Given the description of an element on the screen output the (x, y) to click on. 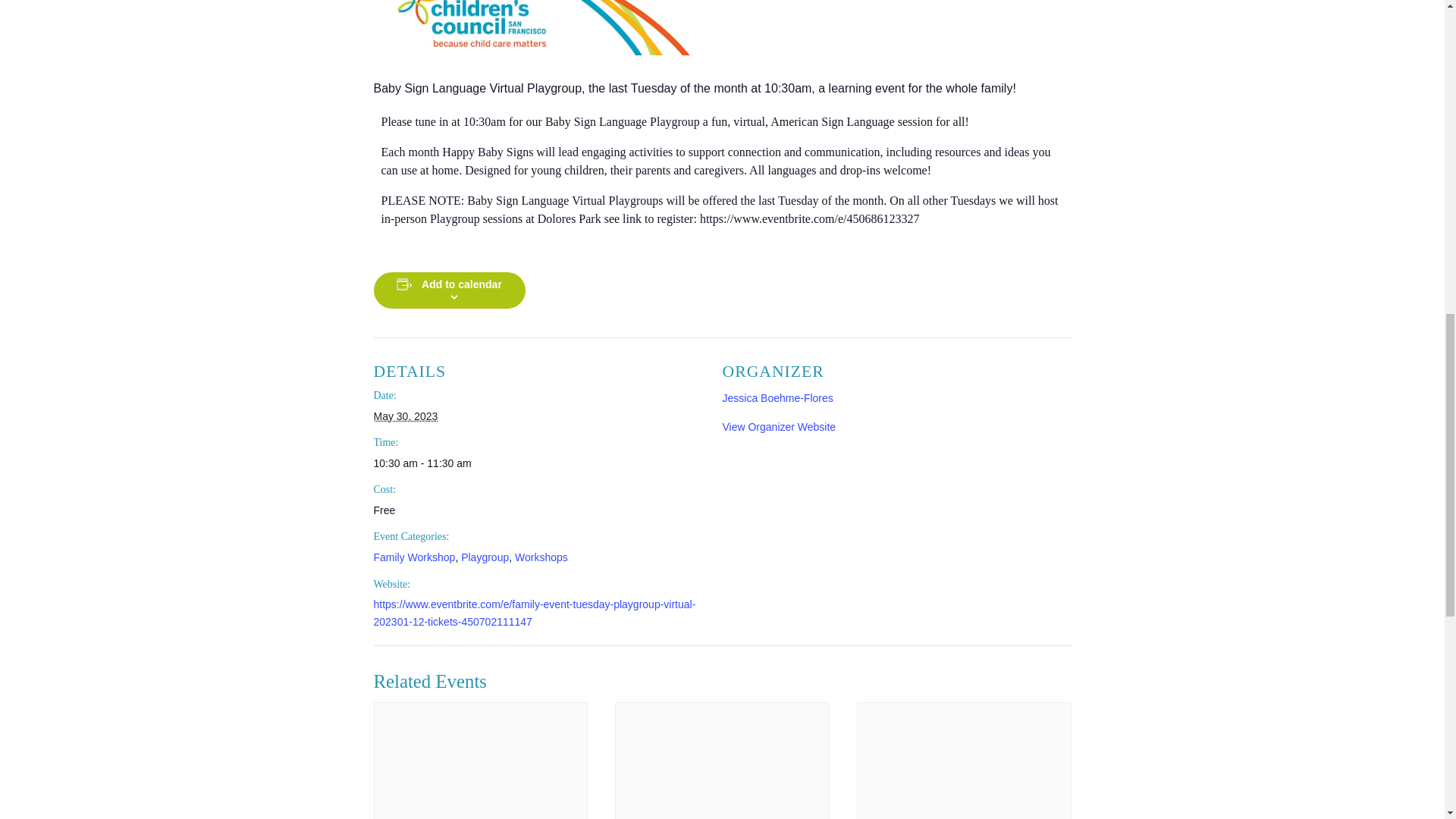
2023-05-30 (537, 463)
2023-05-30 (405, 416)
Jessica Boehme-Flores (777, 398)
